Given the description of an element on the screen output the (x, y) to click on. 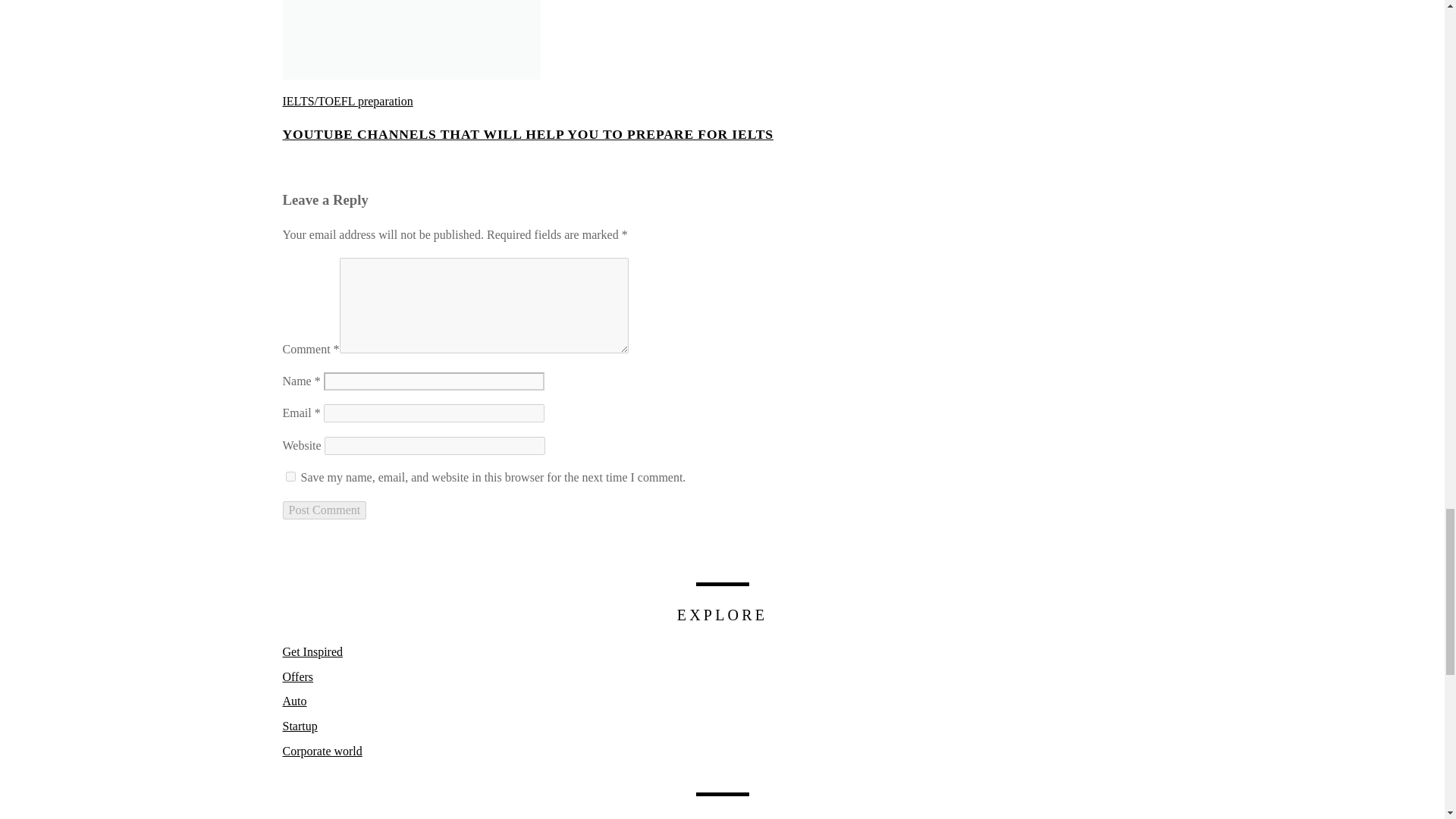
Post Comment (324, 510)
YOUTUBE CHANNELS THAT WILL HELP YOU TO PREPARE FOR IELTS (527, 133)
yes (290, 476)
Post Comment (324, 510)
